Given the description of an element on the screen output the (x, y) to click on. 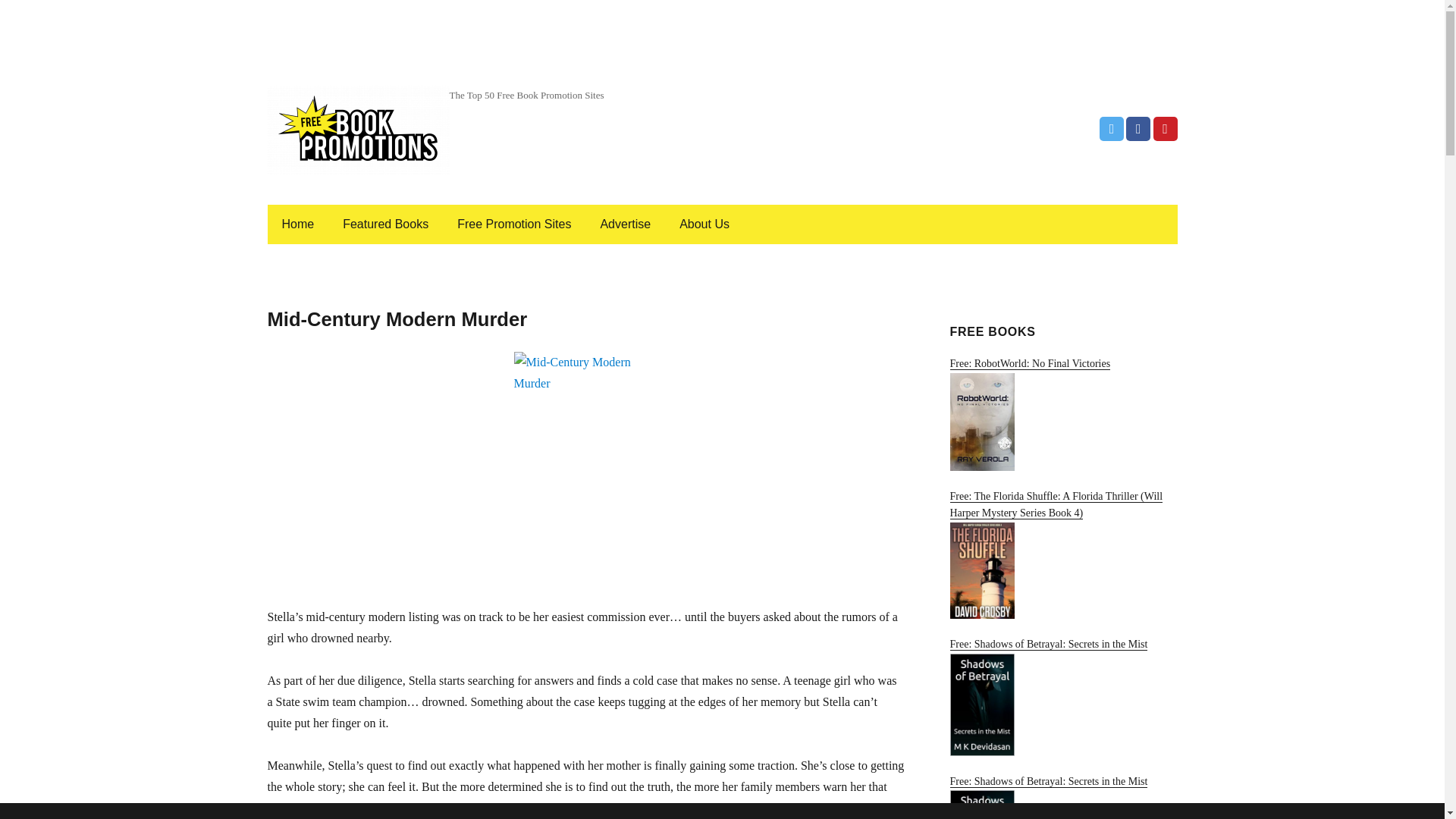
Free: RobotWorld: No Final Victories (1062, 413)
Advertise (625, 224)
About Us (703, 224)
Free: Shadows of Betrayal: Secrets in the Mist (1062, 797)
Pinterest (1164, 128)
Free: Shadows of Betrayal: Secrets in the Mist (1062, 696)
Facebook (1137, 128)
Home (297, 224)
Twitter (1111, 128)
Featured Books (385, 224)
